Given the description of an element on the screen output the (x, y) to click on. 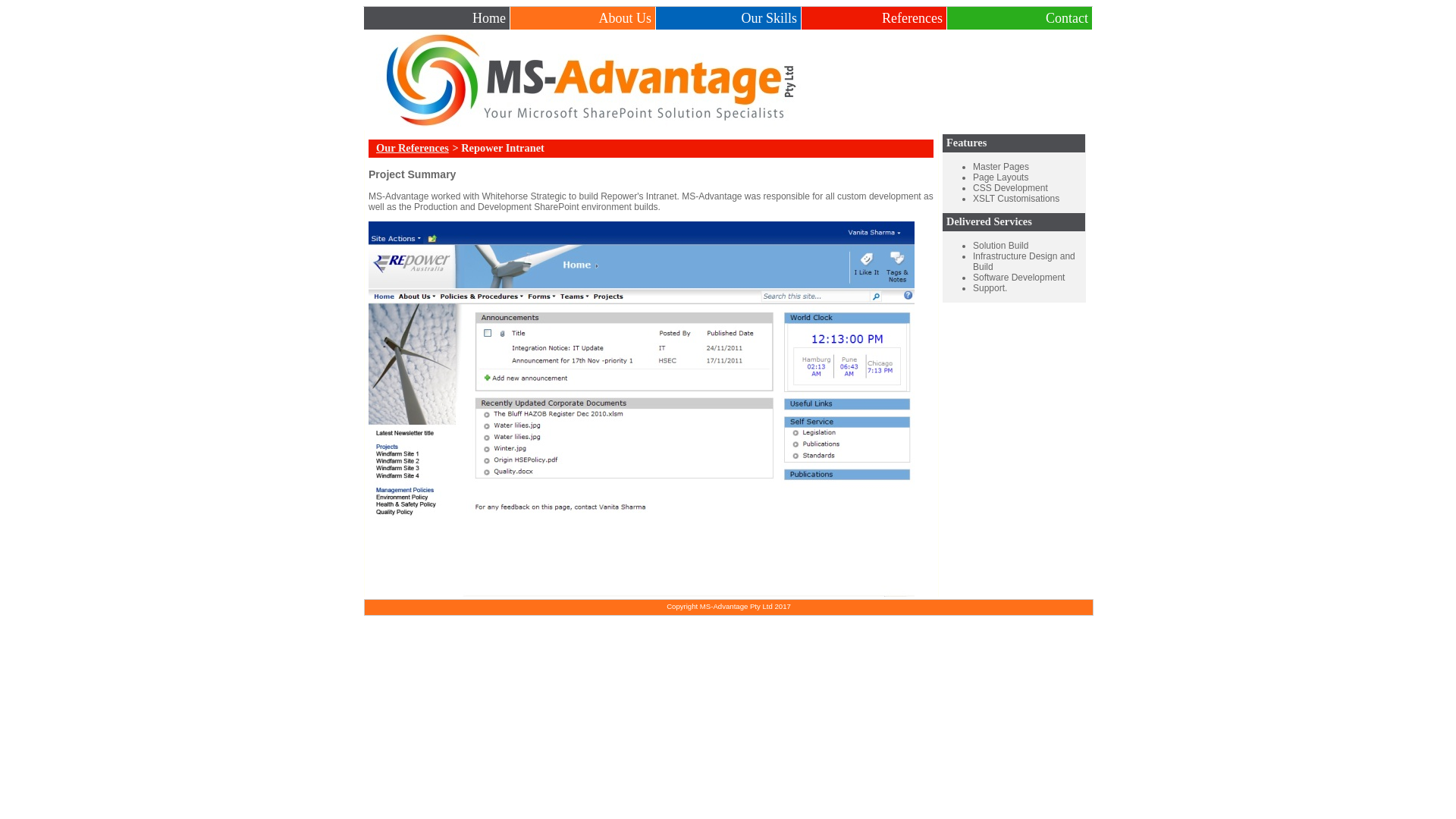
Home Element type: text (490, 16)
Our Skills Element type: text (770, 16)
Our References Element type: text (410, 147)
References Element type: text (913, 16)
Contact Element type: text (1068, 16)
Repower Intranet Element type: hover (641, 408)
About Us Element type: text (626, 16)
